Given the description of an element on the screen output the (x, y) to click on. 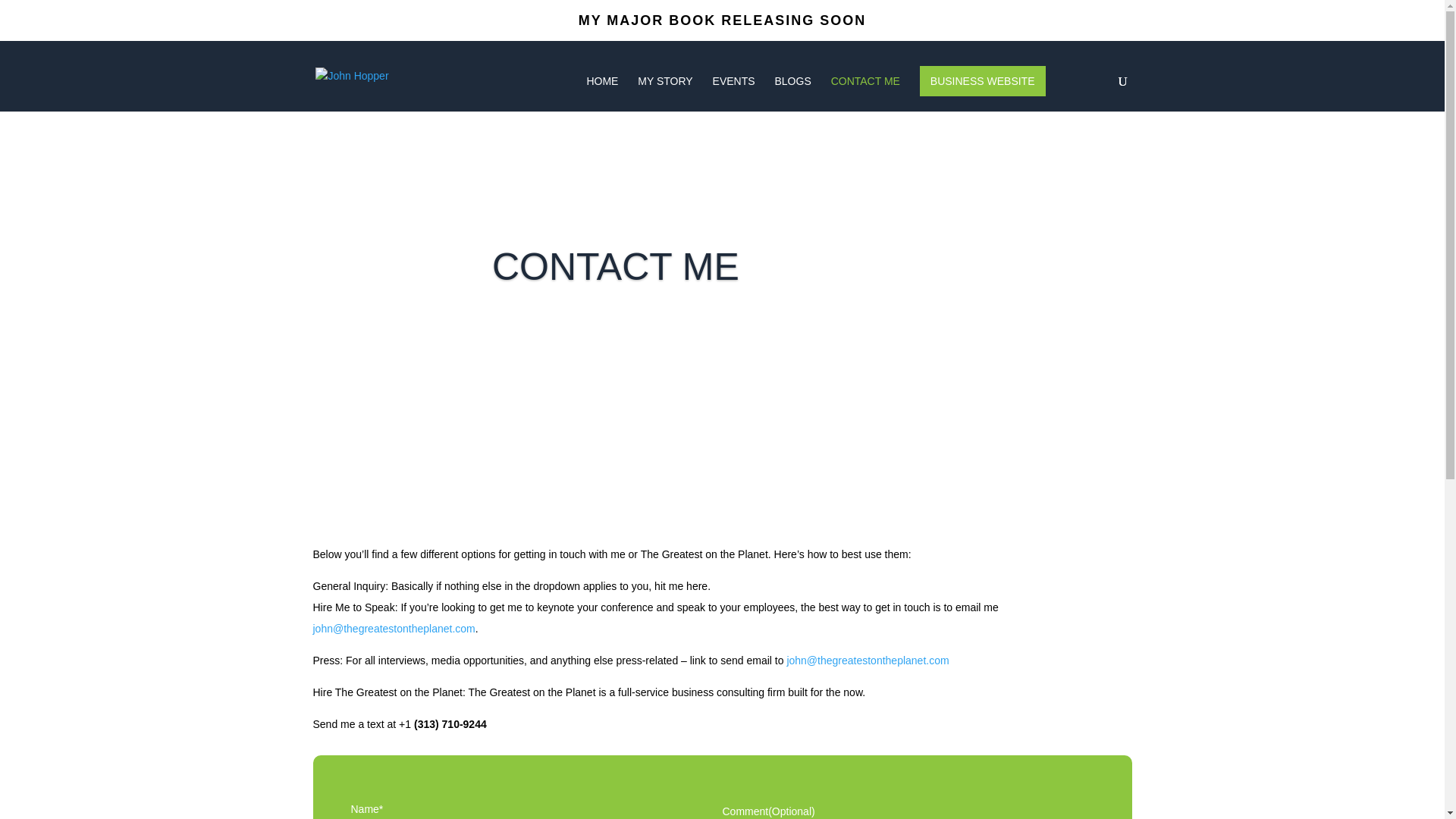
HOME (601, 93)
MY STORY (665, 93)
BLOGS (792, 93)
EVENTS (734, 93)
BUSINESS WEBSITE (982, 81)
CONTACT ME (865, 93)
